Given the description of an element on the screen output the (x, y) to click on. 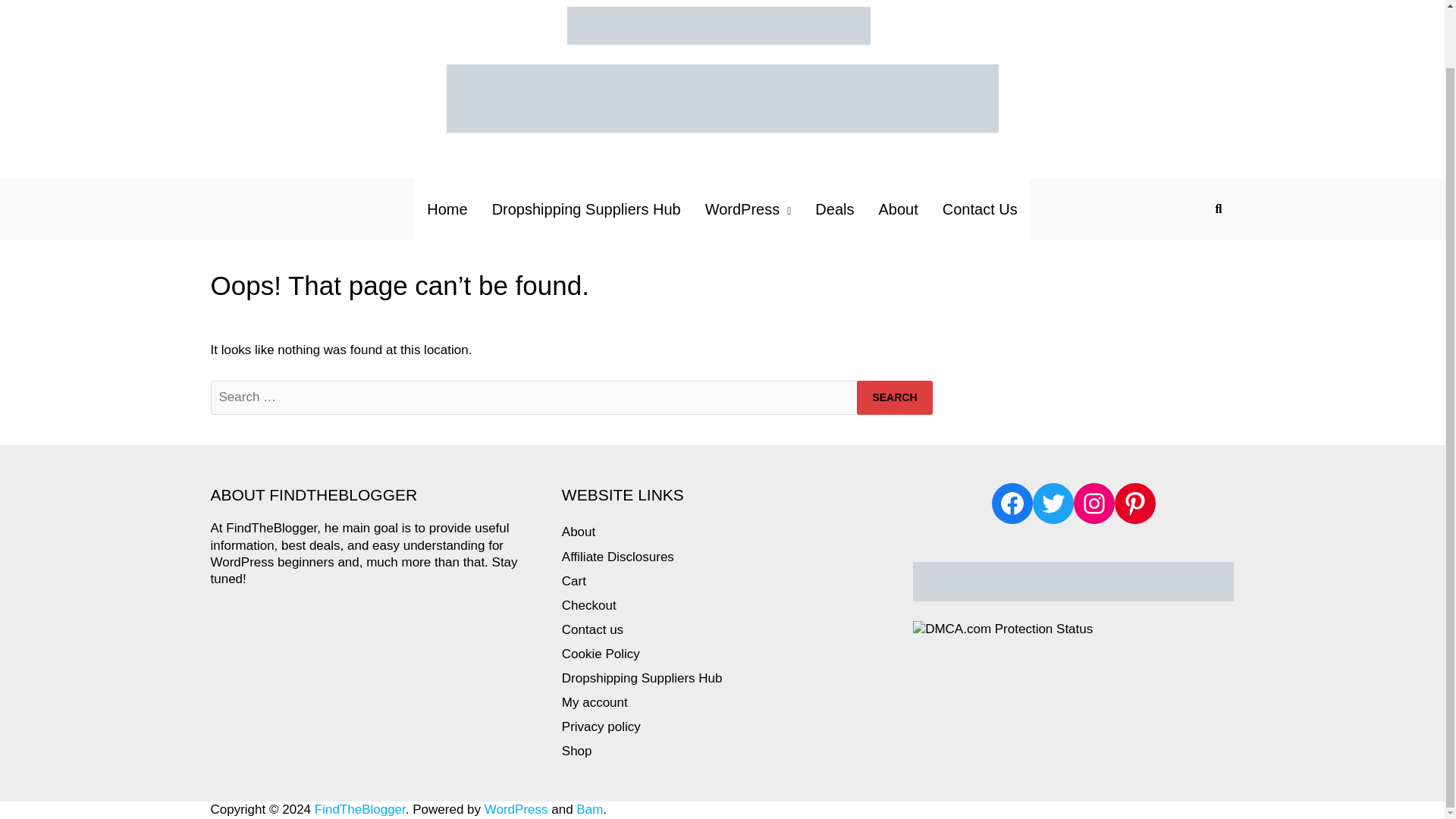
WordPress (748, 209)
Home (446, 209)
Search (894, 397)
Dropshipping Suppliers Hub (586, 209)
Search (894, 397)
Contact Us (979, 209)
Search (894, 397)
Deals (834, 209)
FindTheBlogger (360, 809)
About (578, 531)
